Given the description of an element on the screen output the (x, y) to click on. 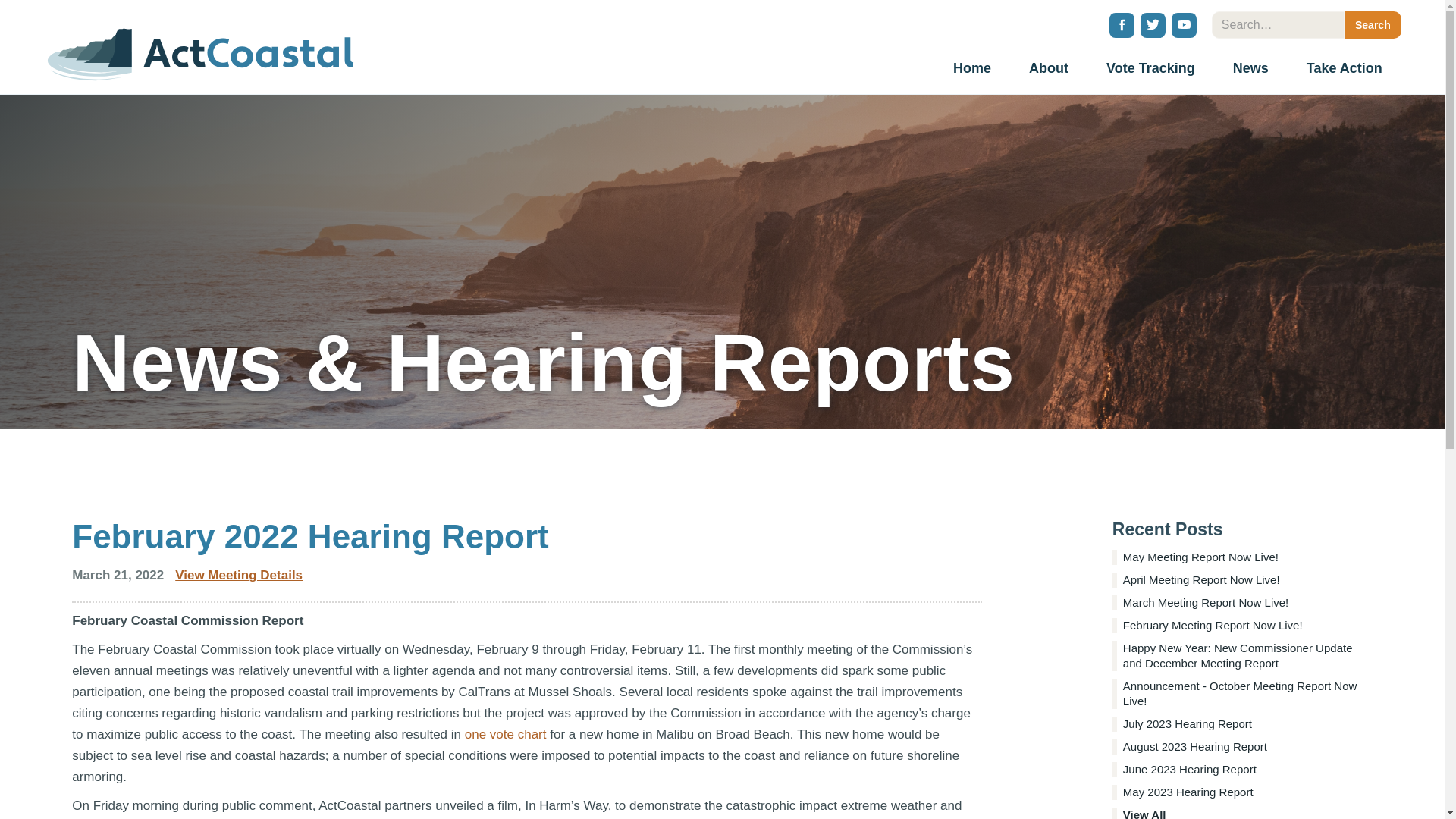
one vote chart (505, 734)
Home (972, 69)
News (1250, 69)
View All (1242, 813)
August 2023 Hearing Report (1242, 746)
Search (1371, 24)
July 2023 Hearing Report (1242, 724)
March Meeting Report Now Live! (1242, 602)
View Meeting Details (238, 575)
Take Action (1343, 69)
February Meeting Report Now Live! (1242, 625)
April Meeting Report Now Live! (1242, 580)
May 2023 Hearing Report (1242, 792)
May Meeting Report Now Live! (1242, 557)
